Given the description of an element on the screen output the (x, y) to click on. 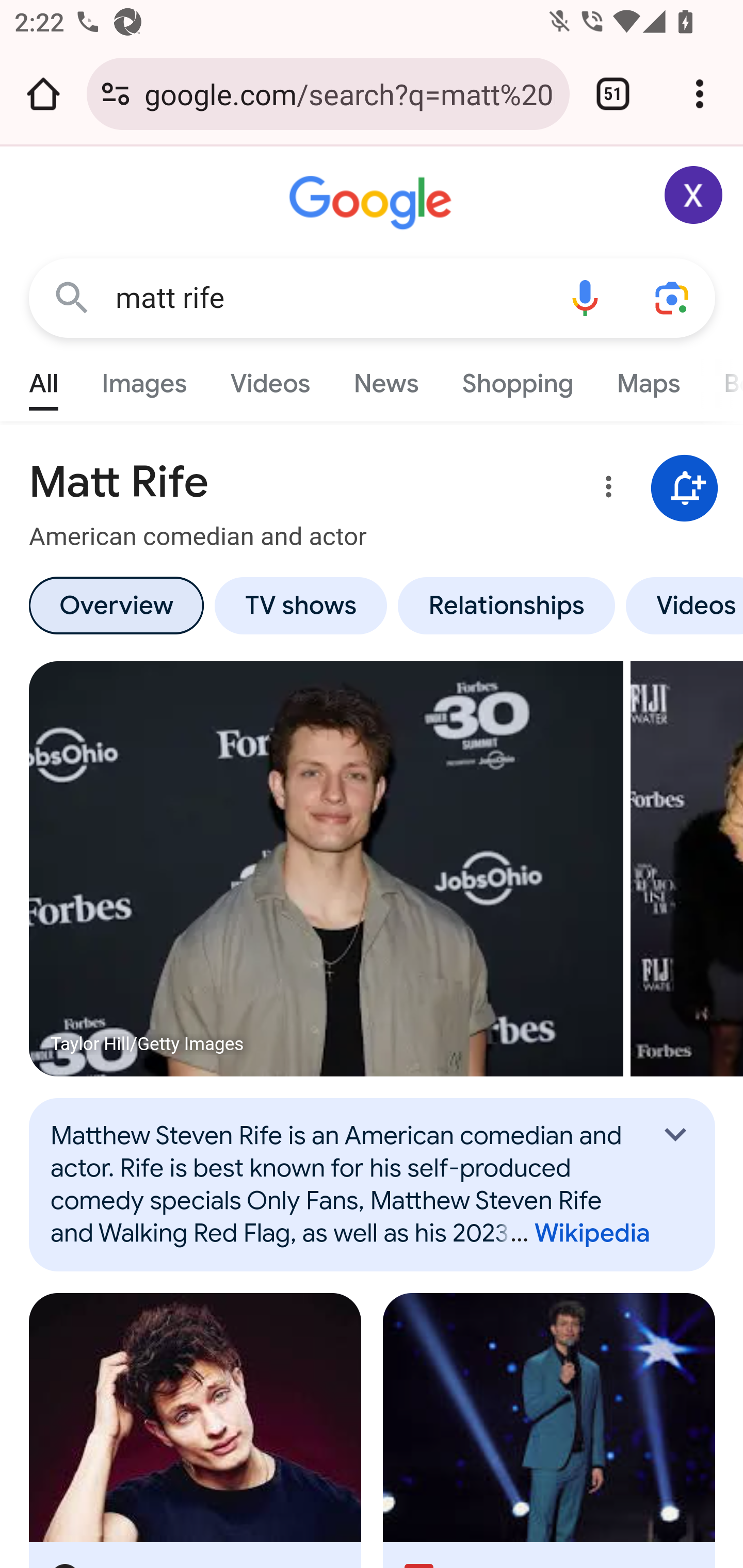
Open the home page (43, 93)
Connection is secure (115, 93)
Switch or close tabs (612, 93)
Customize and control Google Chrome (699, 93)
Google (372, 203)
Google Account: Xiaoran (zxrappiumtest@gmail.com) (694, 195)
Google Search (71, 296)
Search using your camera or photos (672, 296)
matt rife (328, 297)
Images (144, 378)
Videos (270, 378)
News (385, 378)
Shopping (516, 378)
Maps (647, 378)
Get notifications about Matt Rife (684, 489)
More options (605, 489)
Overview (116, 605)
TV shows (300, 605)
Relationships (506, 605)
Videos (680, 605)
Wikipedia (572, 1233)
